Given the description of an element on the screen output the (x, y) to click on. 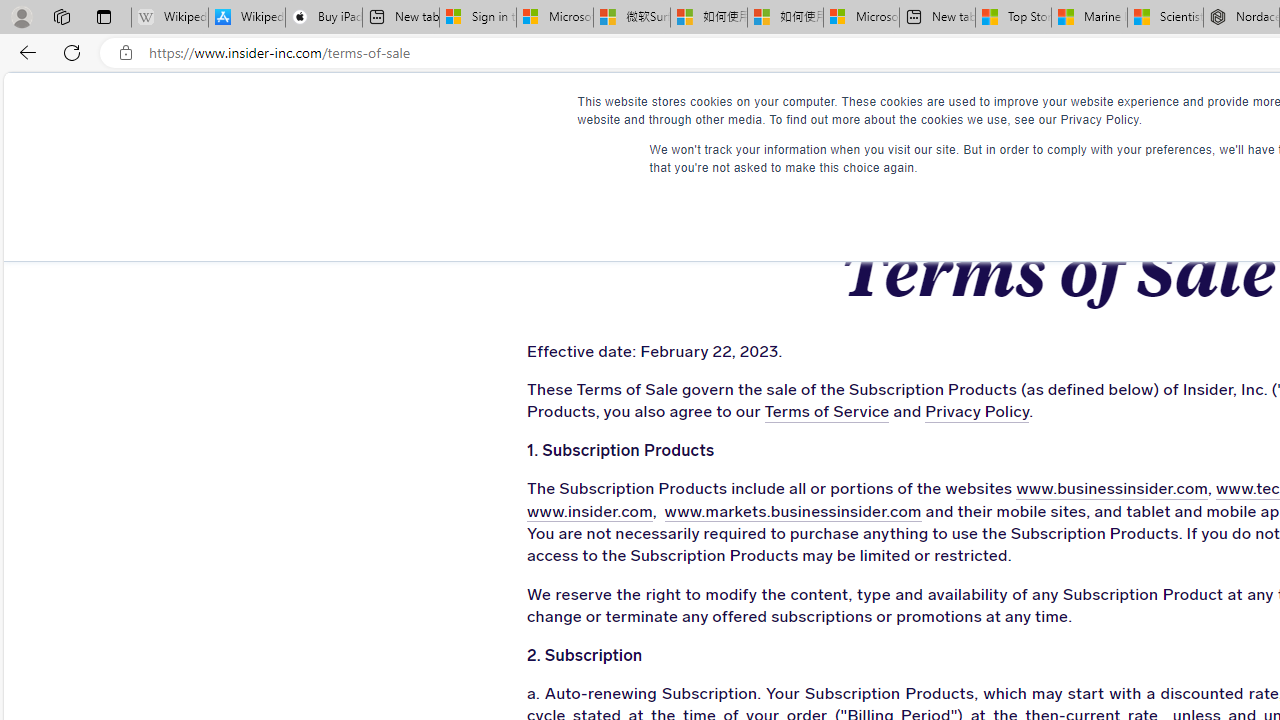
Terms of Service (826, 412)
Top Stories - MSN (1012, 17)
WHAT WE DO (458, 110)
Microsoft account | Account Checkup (861, 17)
